Given the description of an element on the screen output the (x, y) to click on. 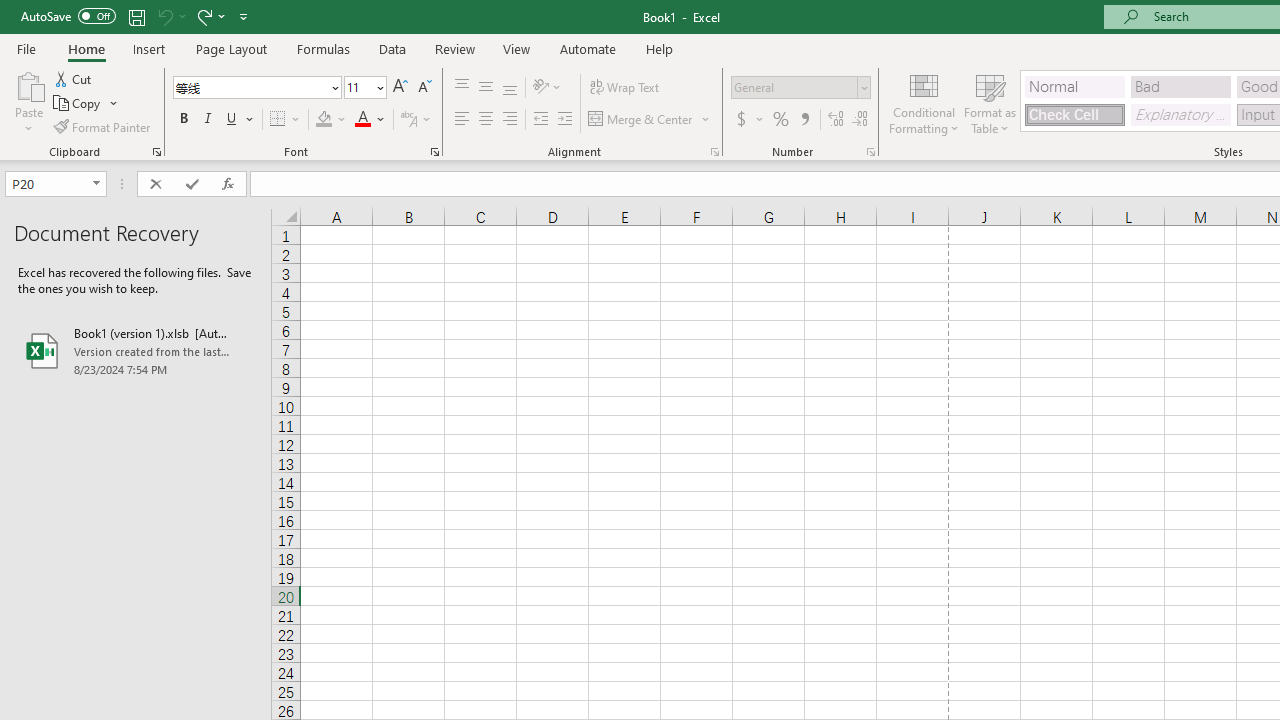
Conditional Formatting (924, 102)
Font Color RGB(255, 0, 0) (362, 119)
Align Right (509, 119)
Format Cell Font (434, 151)
Format Cell Number (870, 151)
Automate (588, 48)
Wrap Text (624, 87)
Percent Style (781, 119)
Merge & Center (649, 119)
Increase Font Size (399, 87)
